Given the description of an element on the screen output the (x, y) to click on. 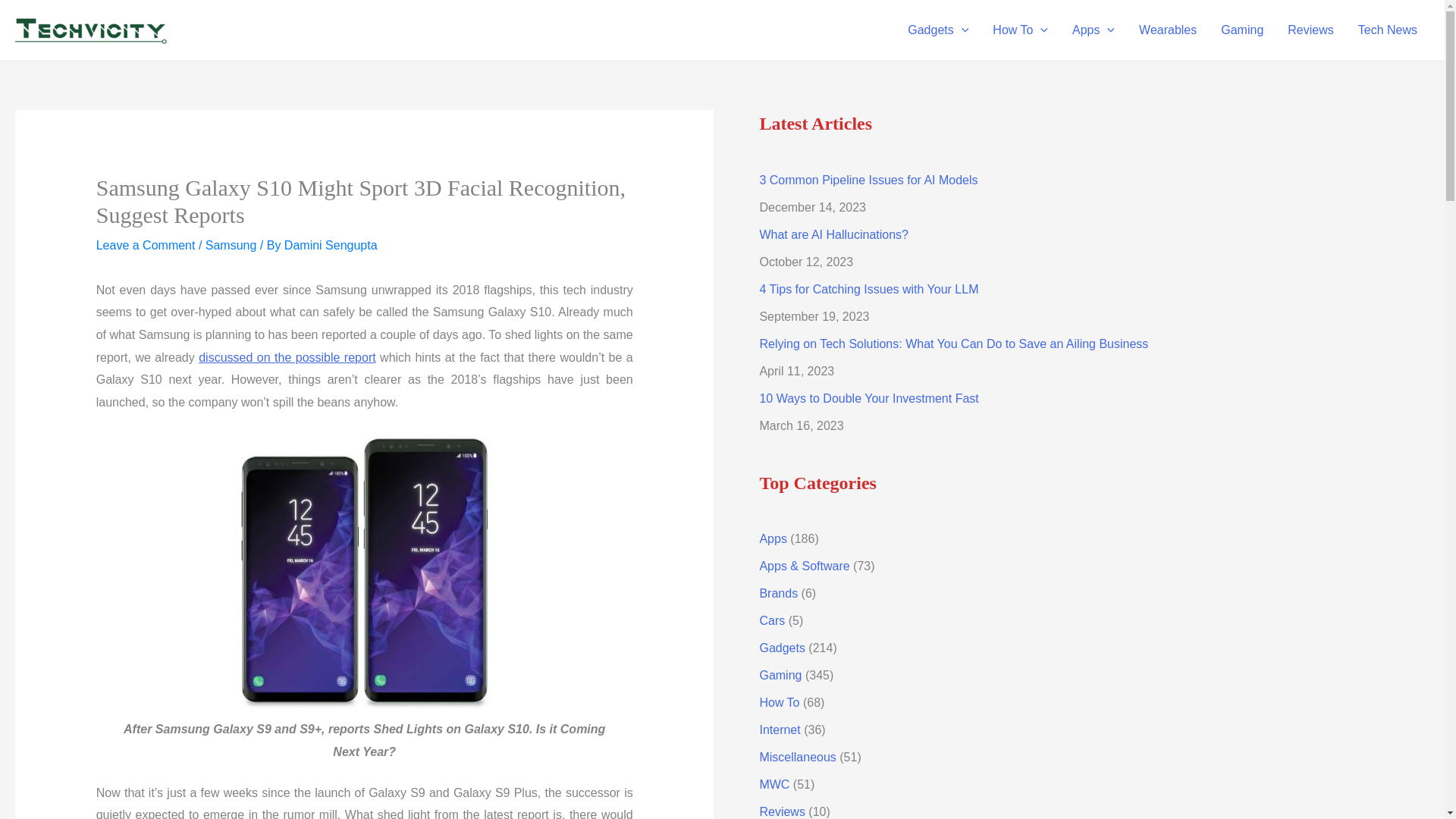
Gaming (1241, 30)
Wearables (1167, 30)
Tech News (1387, 30)
Apps (1092, 30)
View all posts by Damini Sengupta (330, 245)
How To (1019, 30)
Gadgets (937, 30)
Reviews (1310, 30)
